Given the description of an element on the screen output the (x, y) to click on. 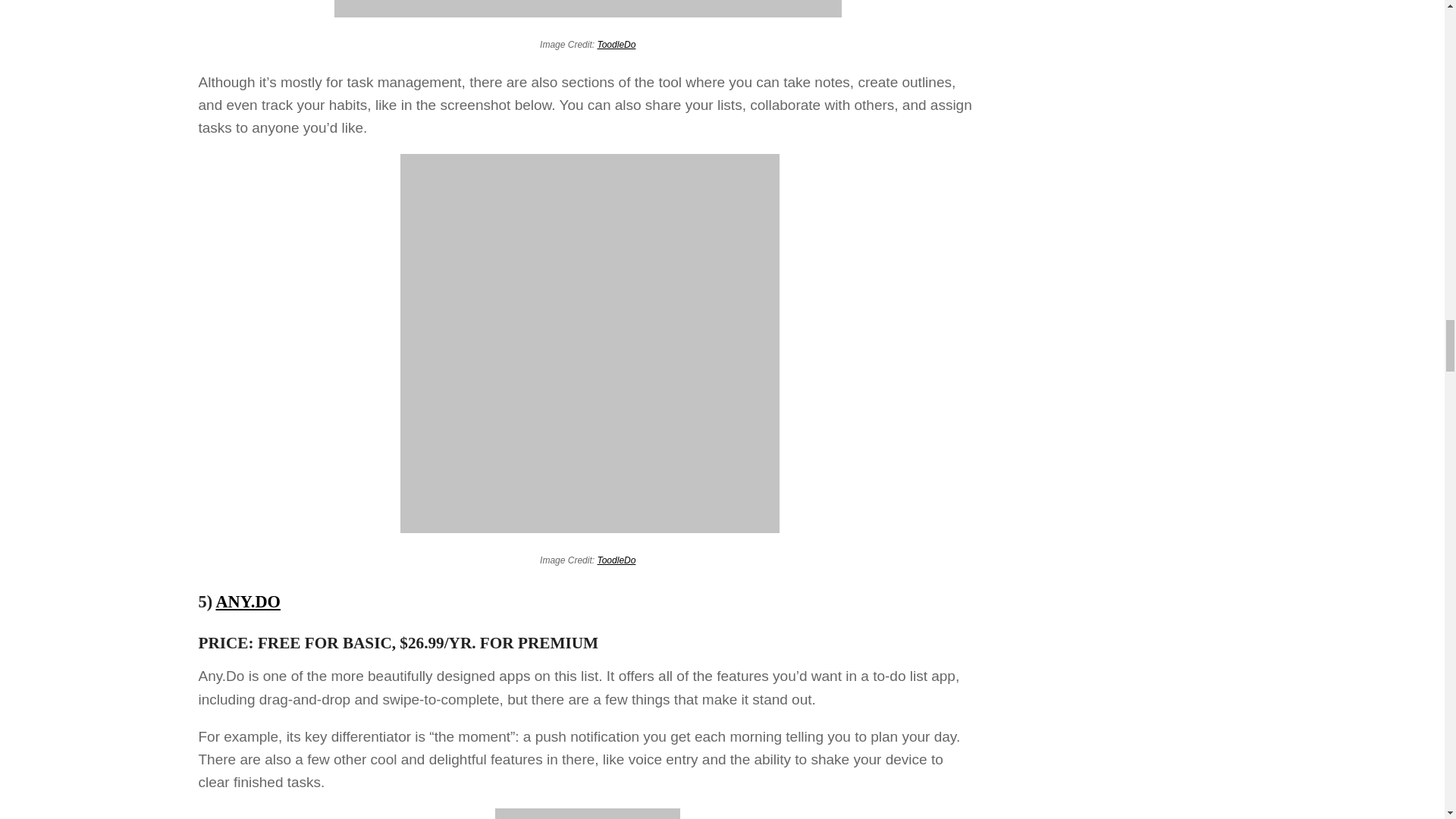
any-do-app.png (587, 813)
toodledo-redesign.png (587, 8)
